Given the description of an element on the screen output the (x, y) to click on. 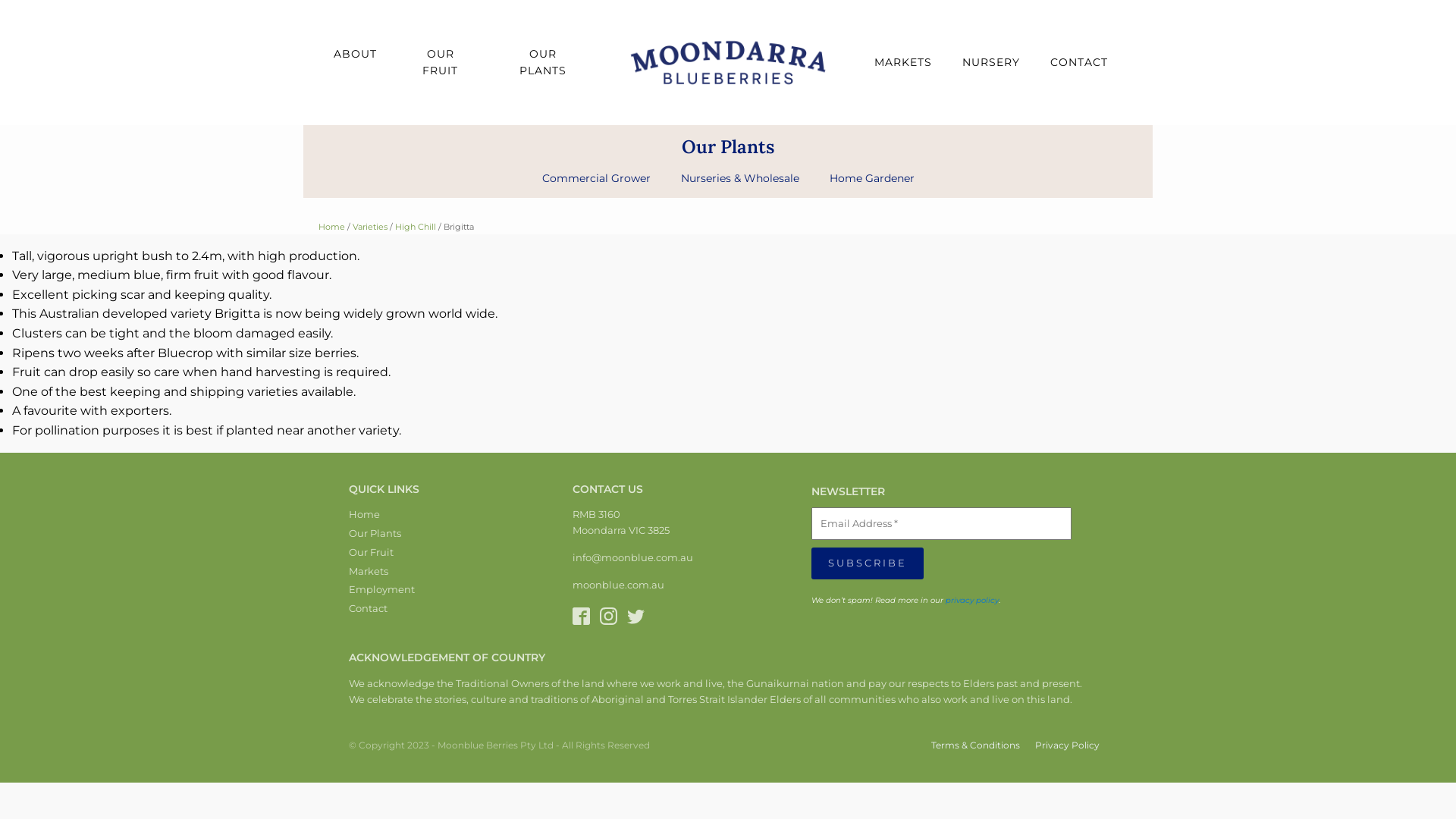
Terms & Conditions Element type: text (967, 744)
Markets Element type: text (381, 572)
Our Fruit Element type: text (381, 553)
Privacy Policy Element type: text (1059, 744)
SUBSCRIBE Element type: text (867, 563)
MARKETS Element type: text (903, 61)
Employment Element type: text (381, 590)
Home Element type: text (381, 515)
moonblue.com.au Element type: text (618, 585)
High Chill Element type: text (415, 226)
Varieties Element type: text (369, 226)
Email Address Element type: hover (941, 523)
Commercial Grower Element type: text (595, 177)
CONTACT Element type: text (1079, 61)
OUR FRUIT Element type: text (440, 62)
ABOUT Element type: text (355, 53)
Home Element type: text (331, 226)
info@moonblue.com.au Element type: text (632, 557)
NURSERY Element type: text (991, 61)
Contact Element type: text (381, 609)
Our Plants Element type: text (381, 534)
Nurseries & Wholesale Element type: text (739, 177)
privacy policy Element type: text (971, 600)
Home Gardener Element type: text (871, 177)
OUR PLANTS Element type: text (542, 62)
